Given the description of an element on the screen output the (x, y) to click on. 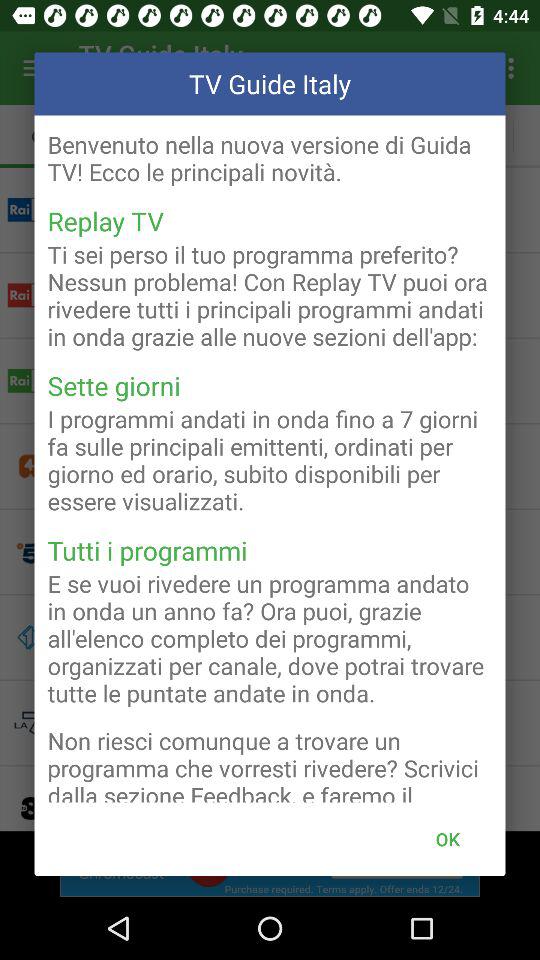
flip to the ok (447, 838)
